Given the description of an element on the screen output the (x, y) to click on. 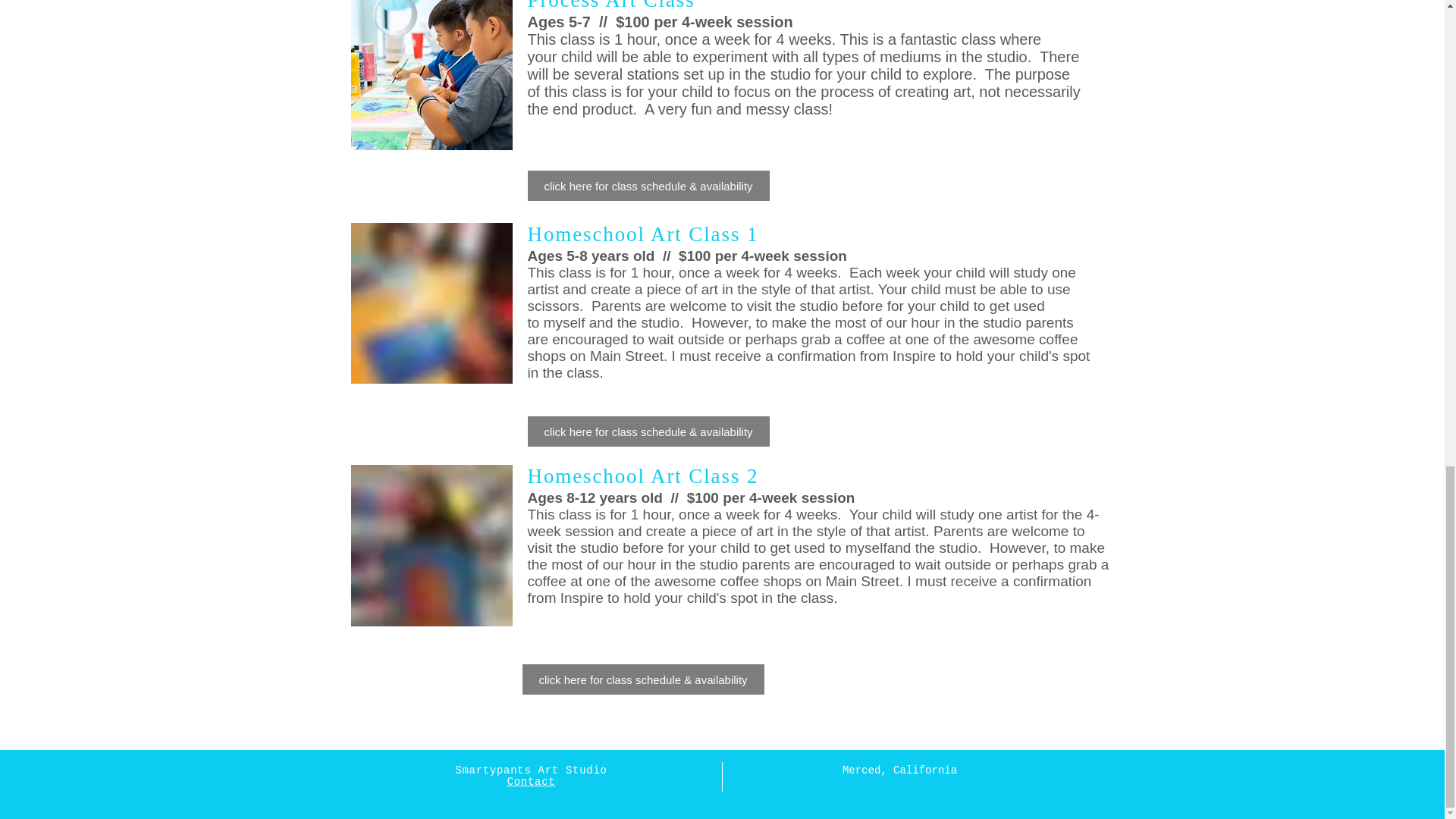
Contact (531, 780)
